Given the description of an element on the screen output the (x, y) to click on. 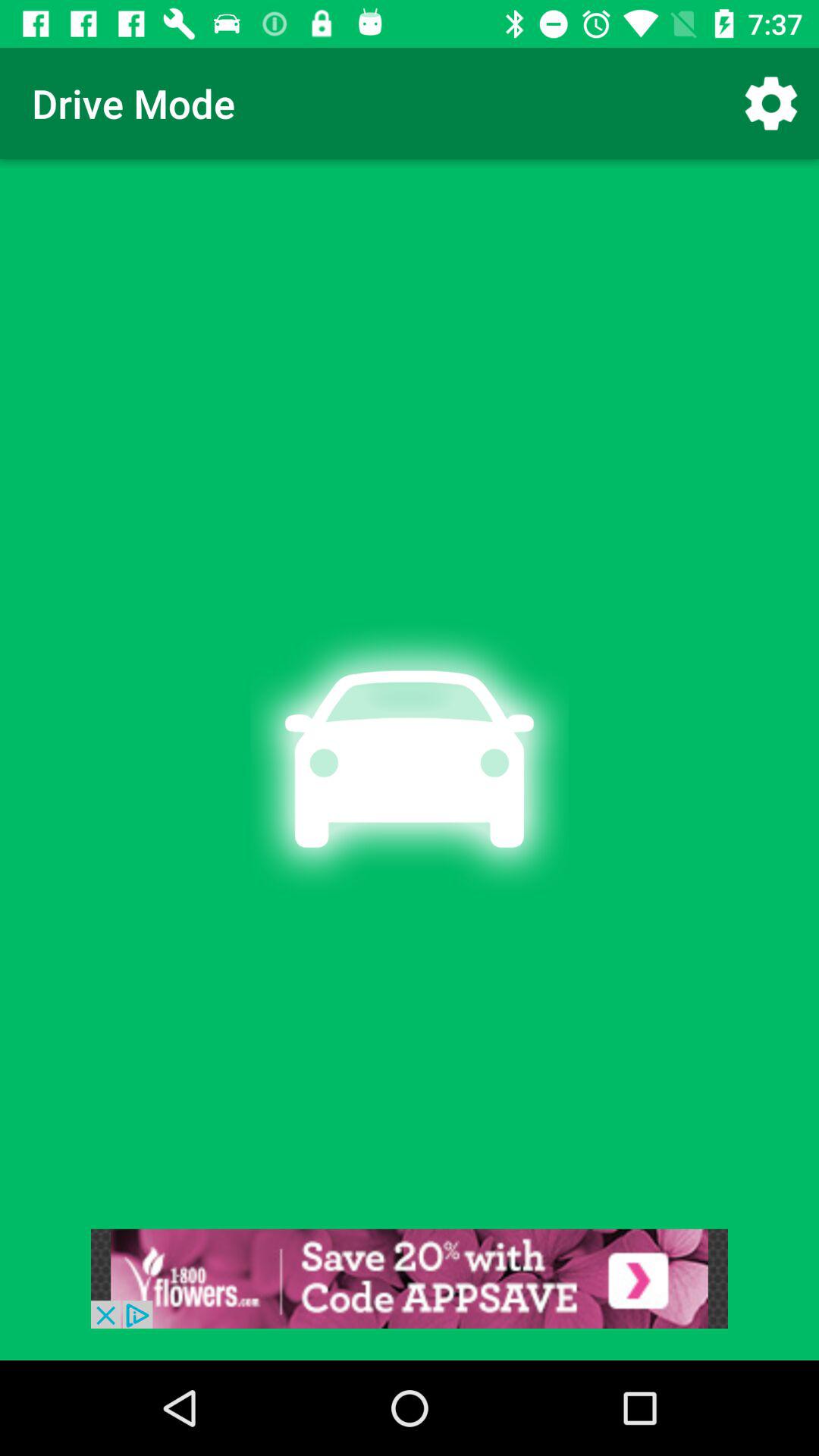
advertisement for 1-800-flowers (409, 1278)
